Given the description of an element on the screen output the (x, y) to click on. 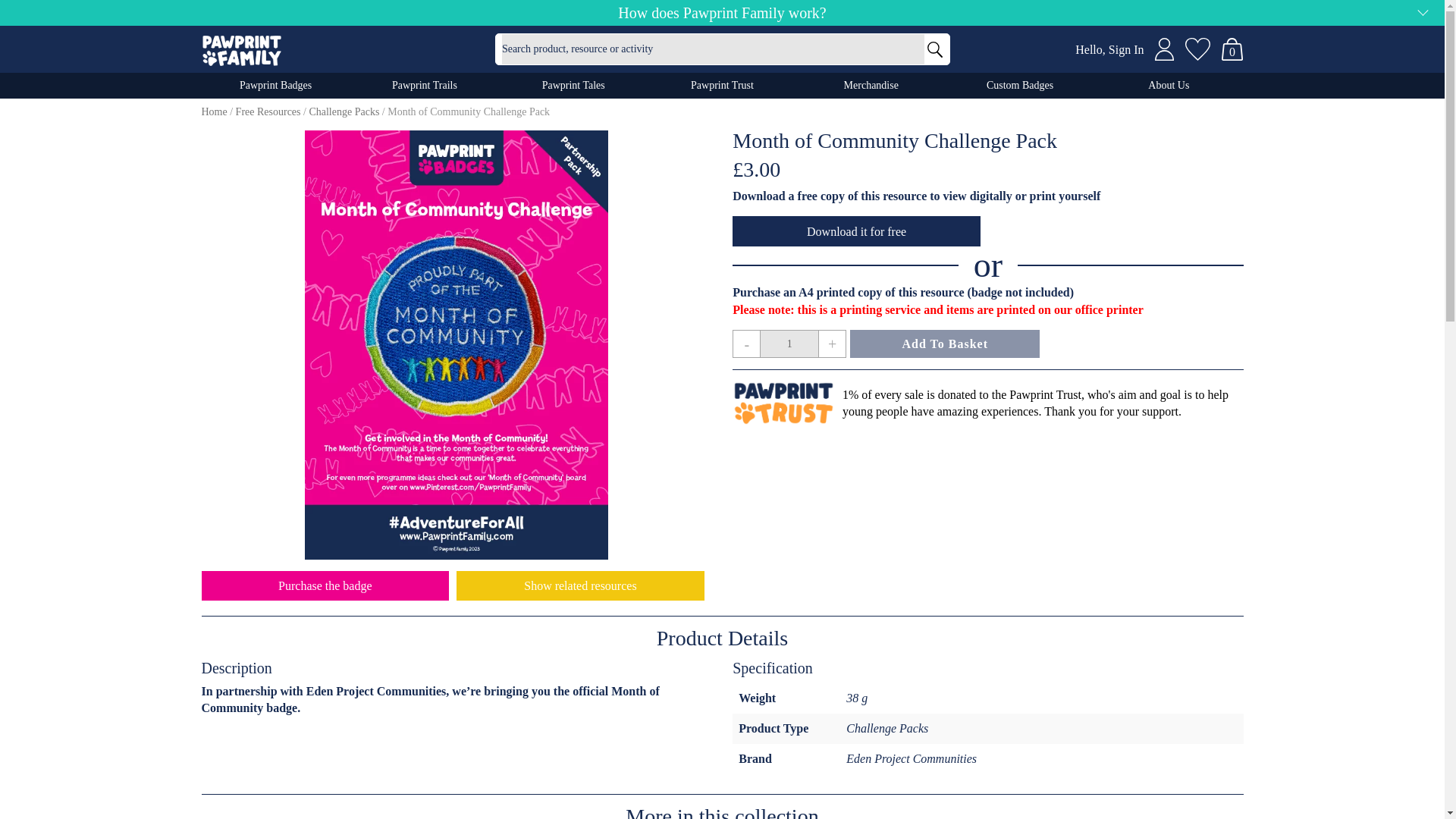
1 (789, 343)
Pawprint Tales (573, 85)
Hello, Sign In (1108, 49)
Pawprint Trails (424, 85)
Qty (789, 343)
Pawprint Badges (276, 85)
